Given the description of an element on the screen output the (x, y) to click on. 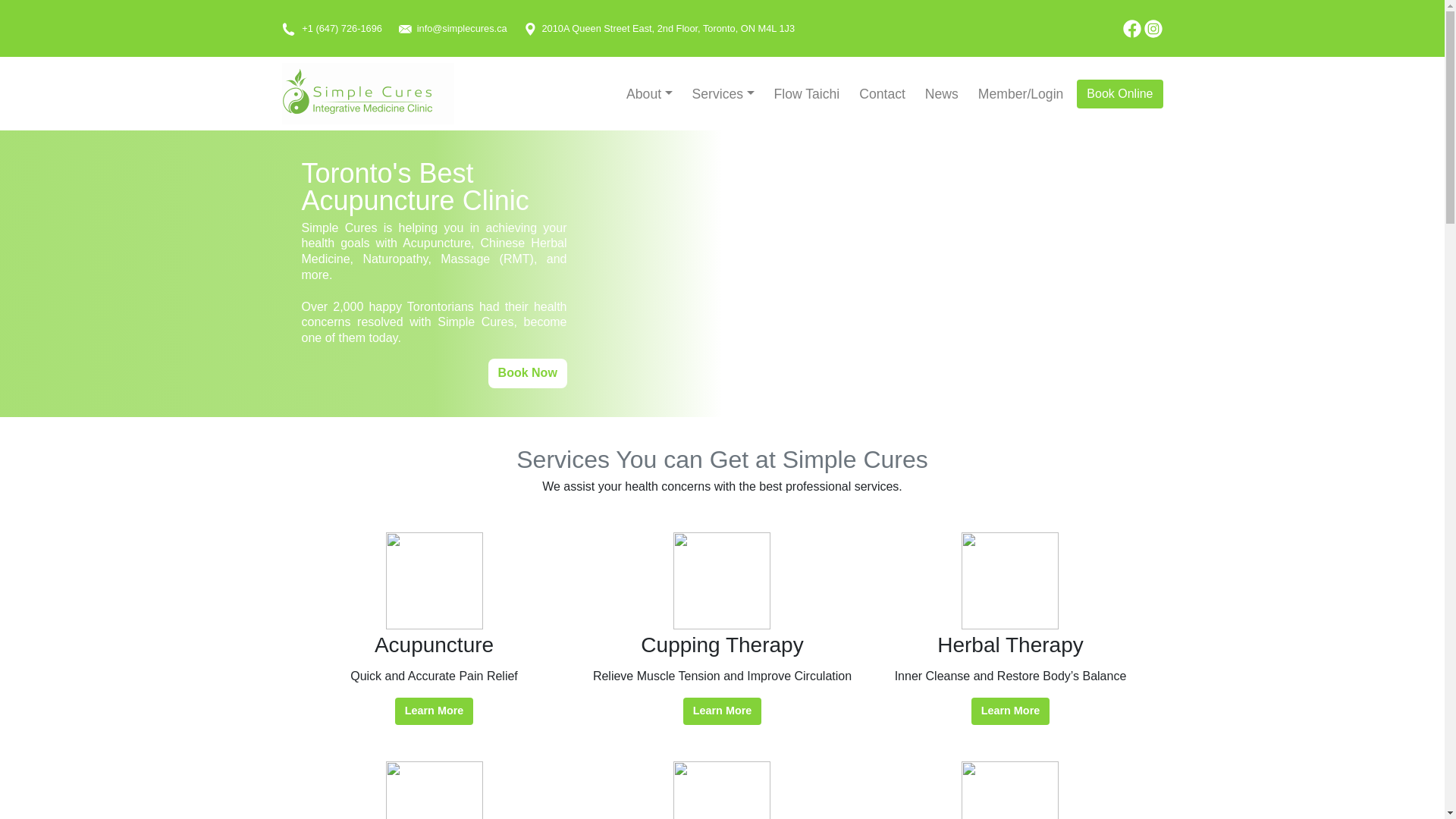
Learn More (434, 710)
About (649, 93)
Book Online (1119, 93)
Learn More (721, 710)
News (940, 93)
About (649, 93)
Learn More (1010, 710)
Book Now (527, 373)
Services (722, 93)
Contact (882, 93)
Flow Taichi (806, 93)
2010A Queen Street East, 2nd Floor, Toronto, ON M4L 1J3 (658, 28)
